Given the description of an element on the screen output the (x, y) to click on. 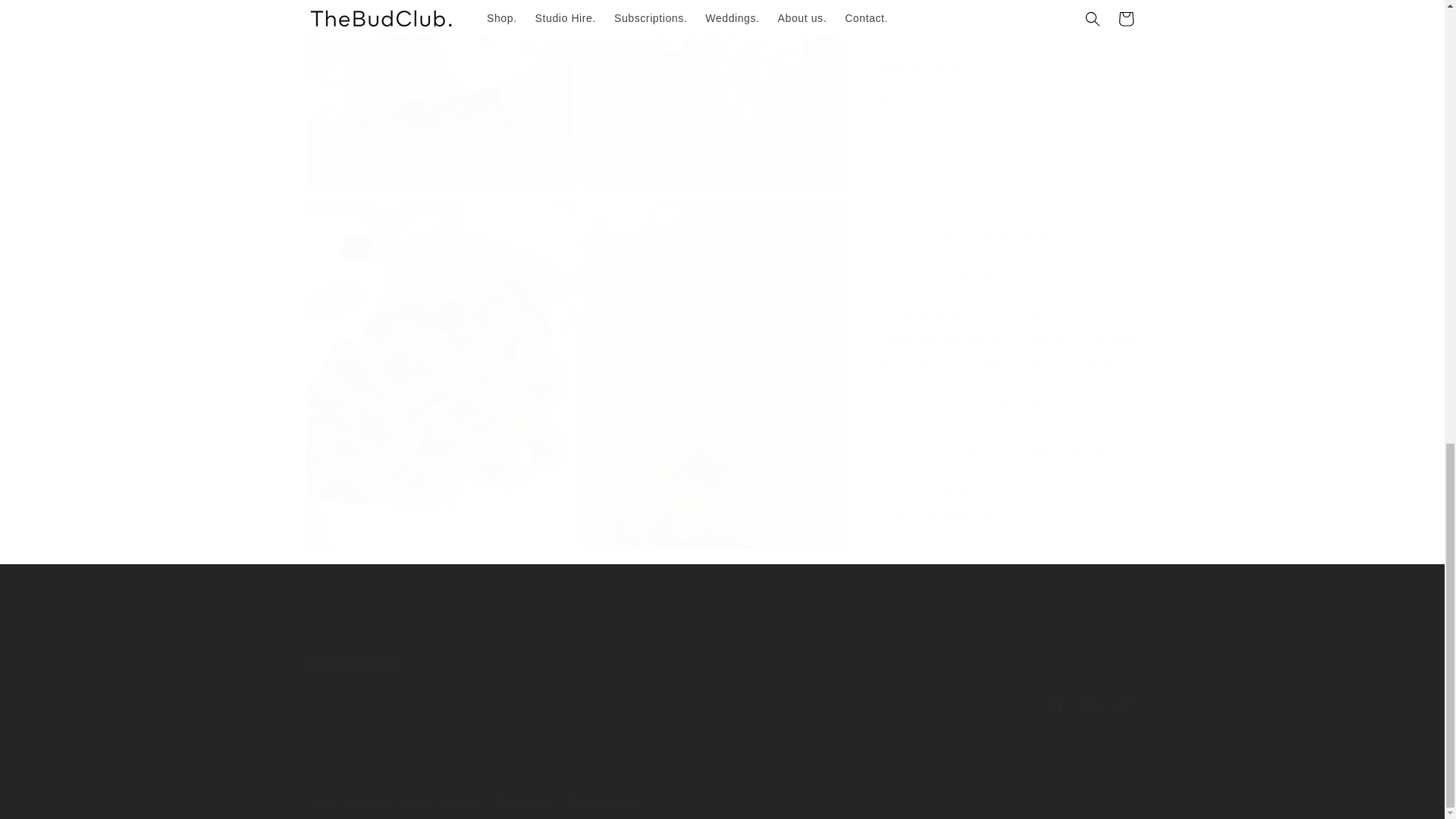
Open media 2 in modal (438, 87)
About us. Contact. Policies. (721, 632)
Open media 3 in modal (713, 87)
About us. Contact. Policies. (721, 616)
